Given the description of an element on the screen output the (x, y) to click on. 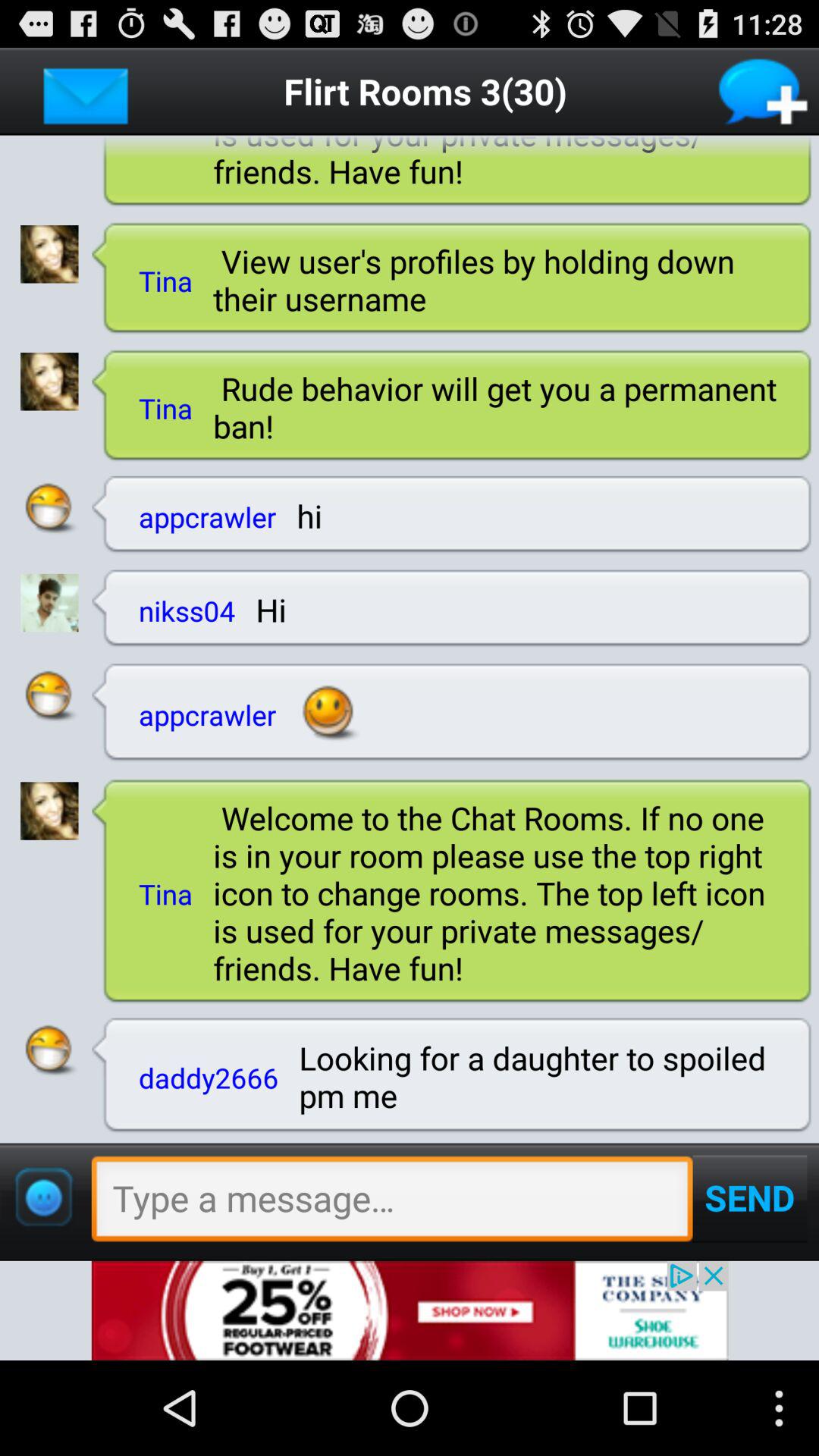
go to home (86, 91)
